Given the description of an element on the screen output the (x, y) to click on. 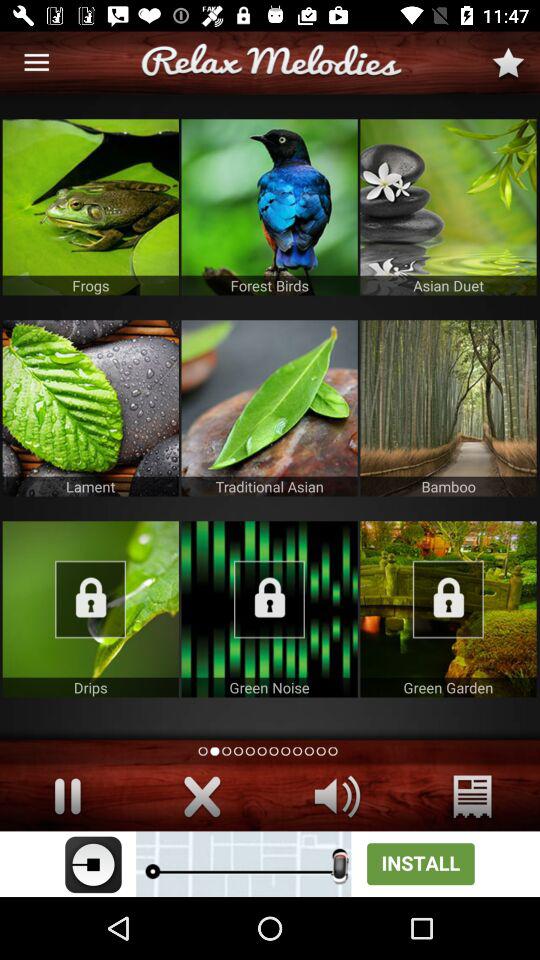
go to lament song (90, 408)
